Given the description of an element on the screen output the (x, y) to click on. 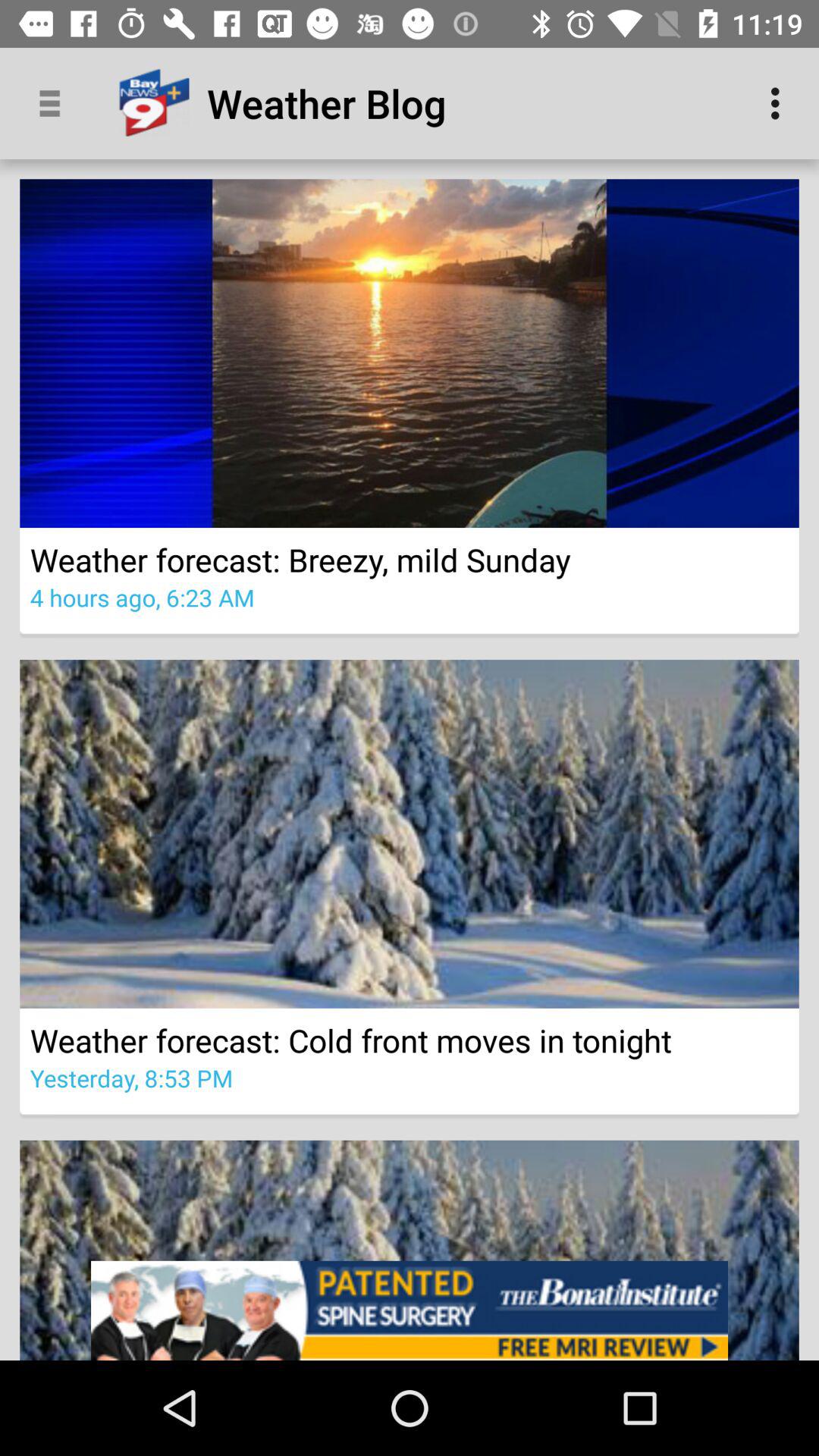
click here for for a free mri review (409, 1310)
